Given the description of an element on the screen output the (x, y) to click on. 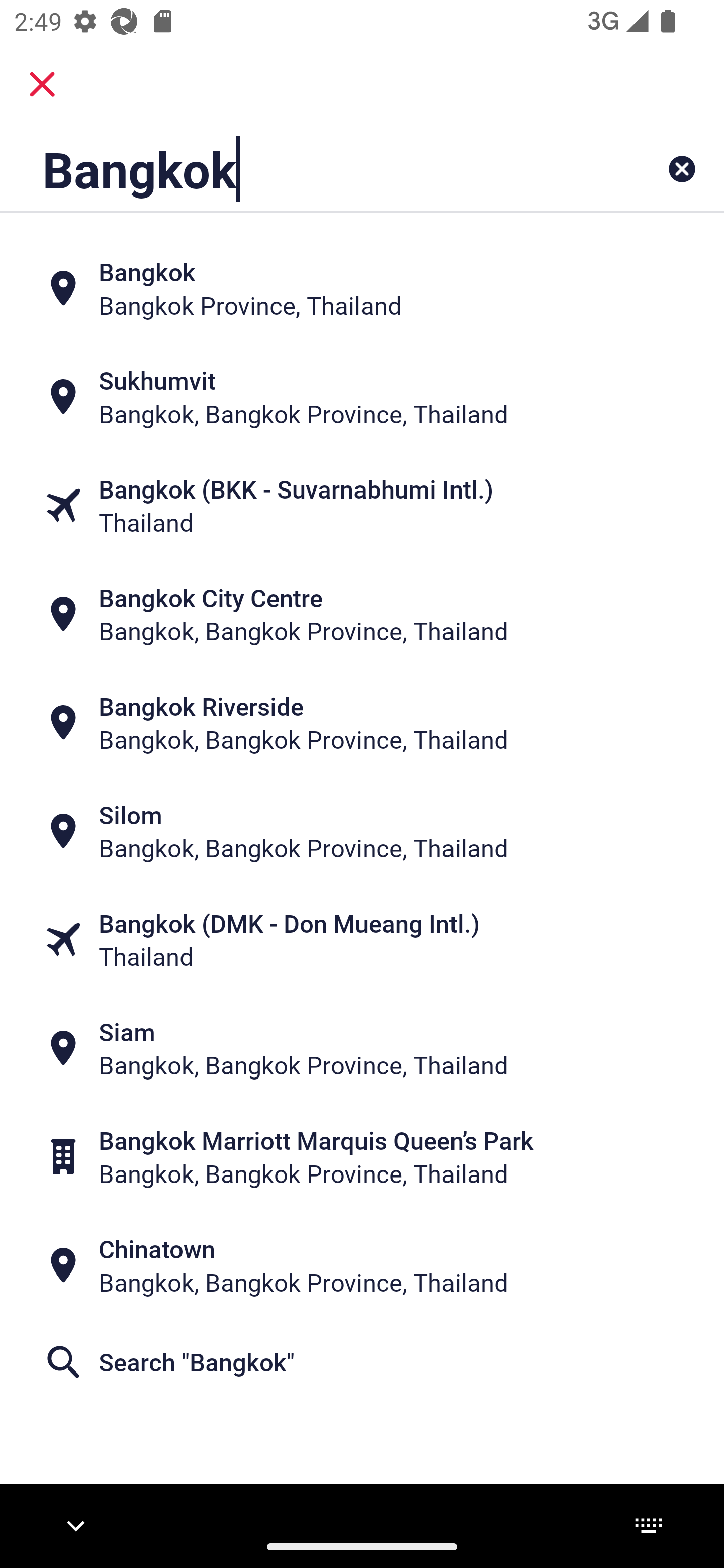
close. (42, 84)
Clear (681, 169)
Bangkok (298, 169)
Bangkok Bangkok Province, Thailand (362, 288)
Sukhumvit Bangkok, Bangkok Province, Thailand (362, 397)
Bangkok (BKK - Suvarnabhumi Intl.) Thailand (362, 505)
Silom Bangkok, Bangkok Province, Thailand (362, 831)
Bangkok (DMK - Don Mueang Intl.) Thailand (362, 939)
Siam Bangkok, Bangkok Province, Thailand (362, 1048)
Chinatown Bangkok, Bangkok Province, Thailand (362, 1265)
Search "Bangkok" (362, 1362)
